Given the description of an element on the screen output the (x, y) to click on. 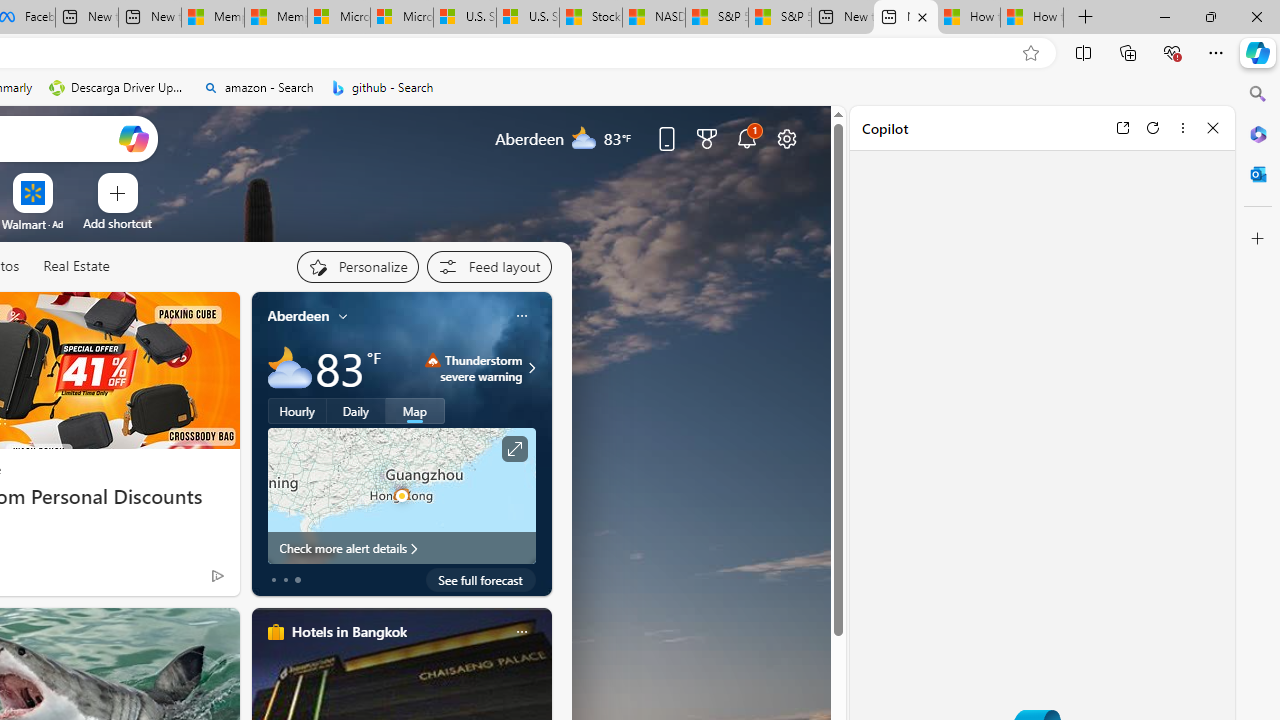
S&P 500, Nasdaq end lower, weighed by Nvidia dip | Watch (779, 17)
Aberdeen (298, 315)
Check more alert details (401, 547)
Customize (1258, 239)
Mostly cloudy (289, 368)
See full forecast (480, 579)
tab-2 (297, 579)
tab-0 (273, 579)
